Given the description of an element on the screen output the (x, y) to click on. 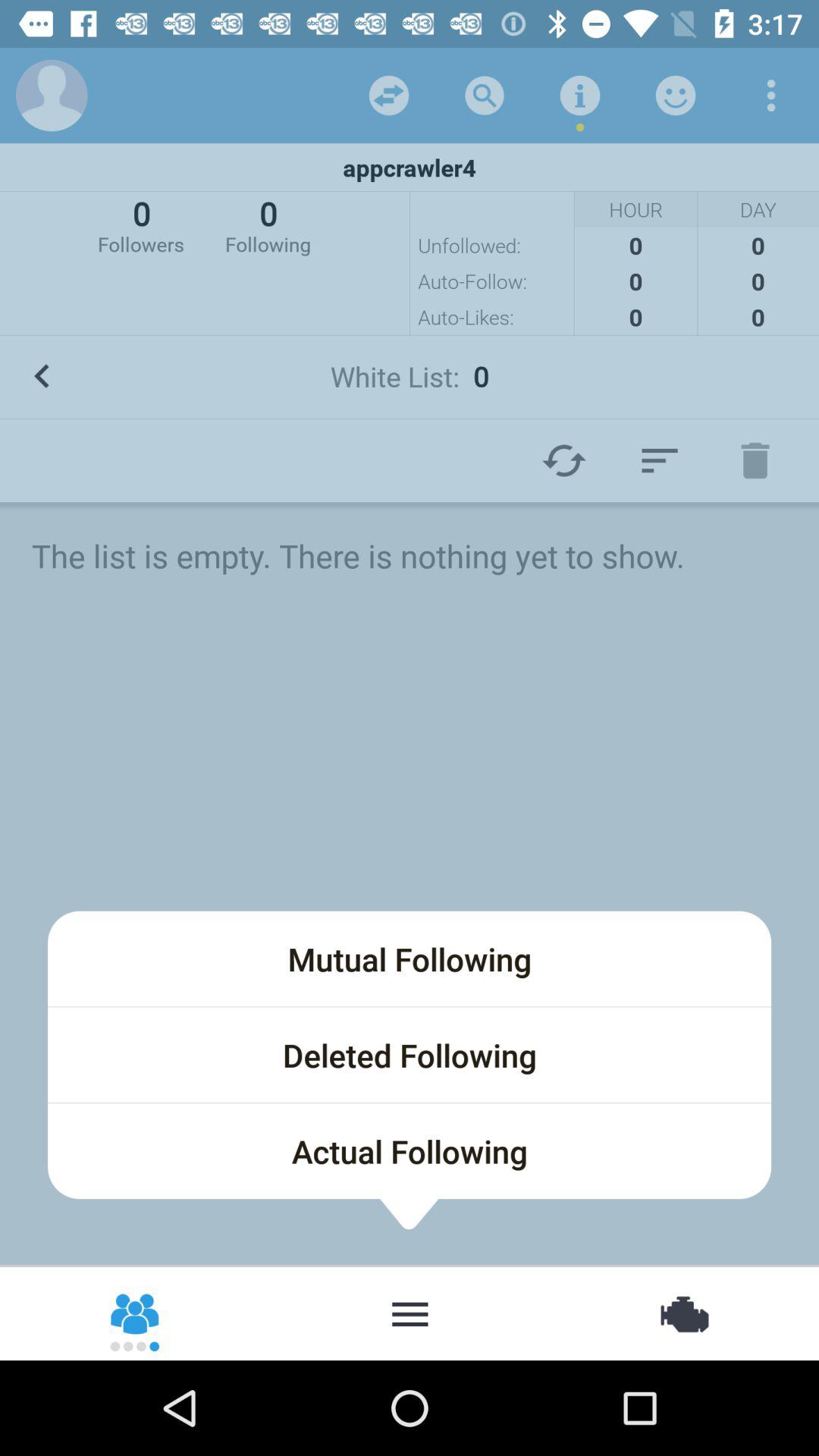
go to previous page (41, 376)
